Given the description of an element on the screen output the (x, y) to click on. 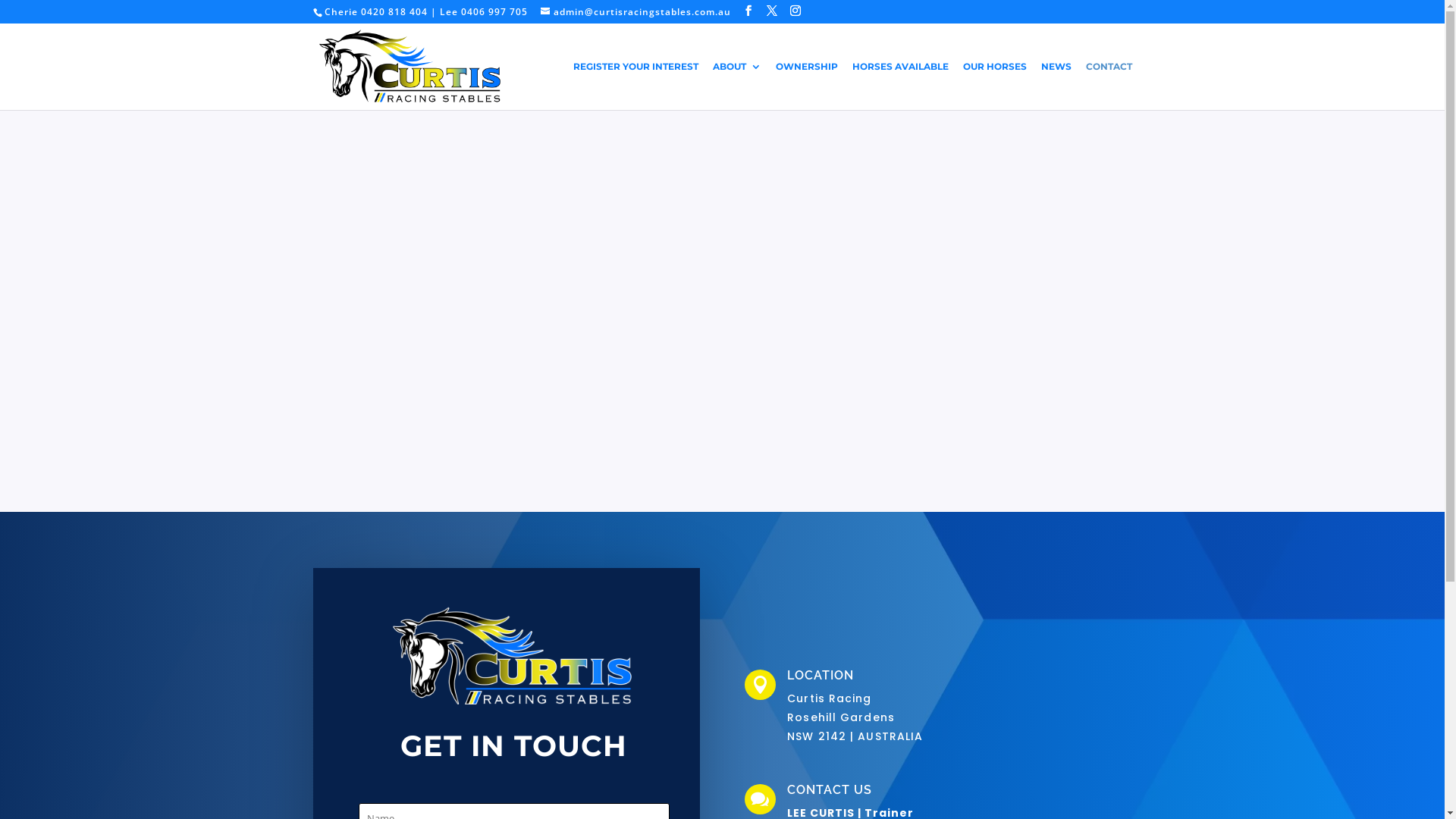
Lee 0406 997 705 Element type: text (483, 11)
ABOUT Element type: text (736, 85)
REGISTER YOUR INTEREST Element type: text (635, 85)
HORSES AVAILABLE Element type: text (900, 85)
CURTIS-RACING-LOGO-final-white (1) Element type: hover (513, 656)
OUR HORSES Element type: text (994, 85)
NEWS Element type: text (1055, 85)
admin@curtisracingstables.com.au Element type: text (634, 11)
Cherie 0420 818 404 Element type: text (375, 11)
OWNERSHIP Element type: text (806, 85)
CONTACT Element type: text (1108, 85)
